Given the description of an element on the screen output the (x, y) to click on. 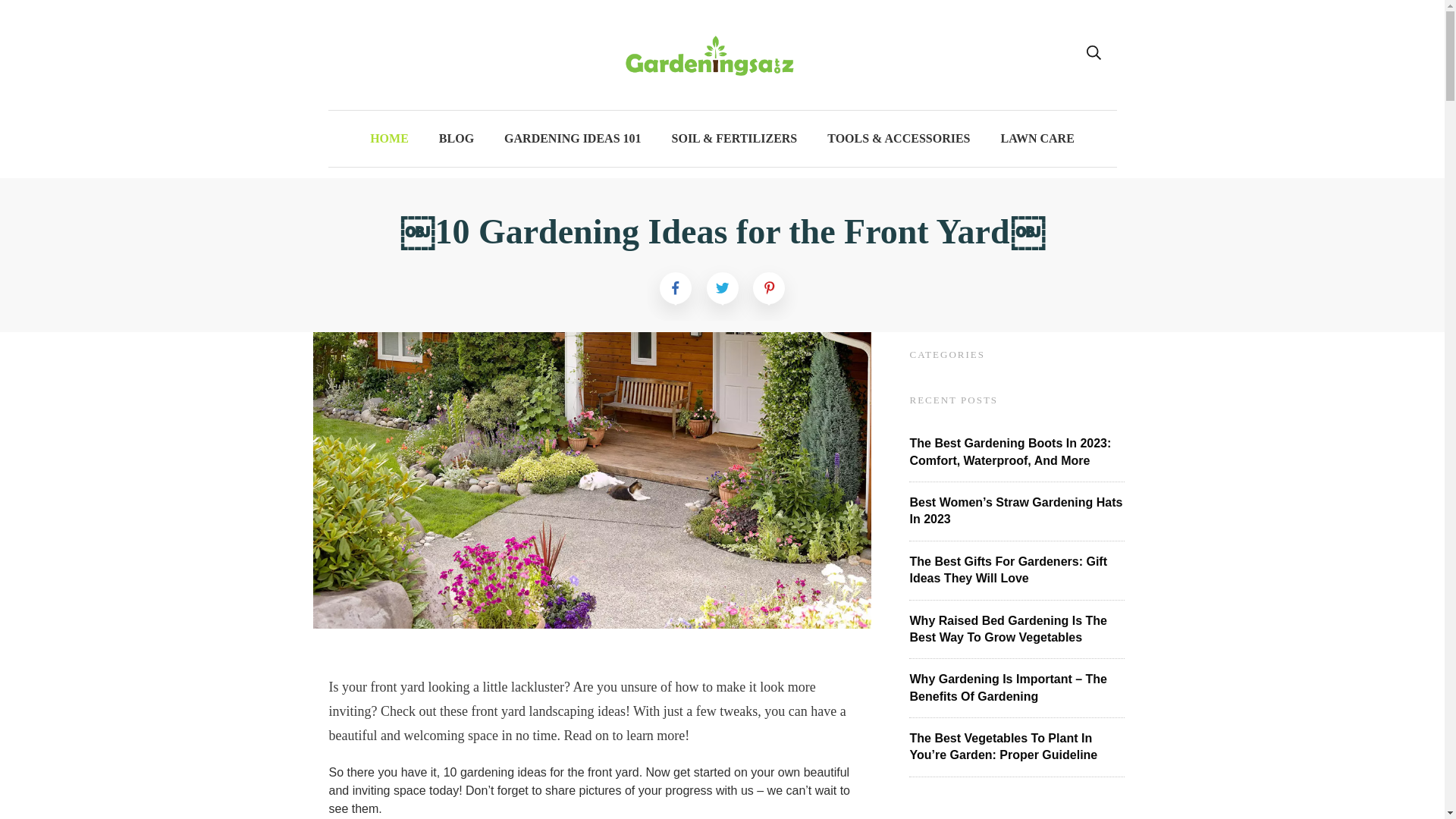
Why Raised Bed Gardening Is The Best Way To Grow Vegetables (1009, 628)
BLOG (456, 138)
The Best Gifts For Gardeners: Gift Ideas They Will Love (1008, 569)
The Best Gifts For Gardeners: Gift Ideas They Will Love (1008, 569)
GARDENING IDEAS 101 (571, 138)
LAWN CARE (1037, 138)
HOME (389, 138)
